Given the description of an element on the screen output the (x, y) to click on. 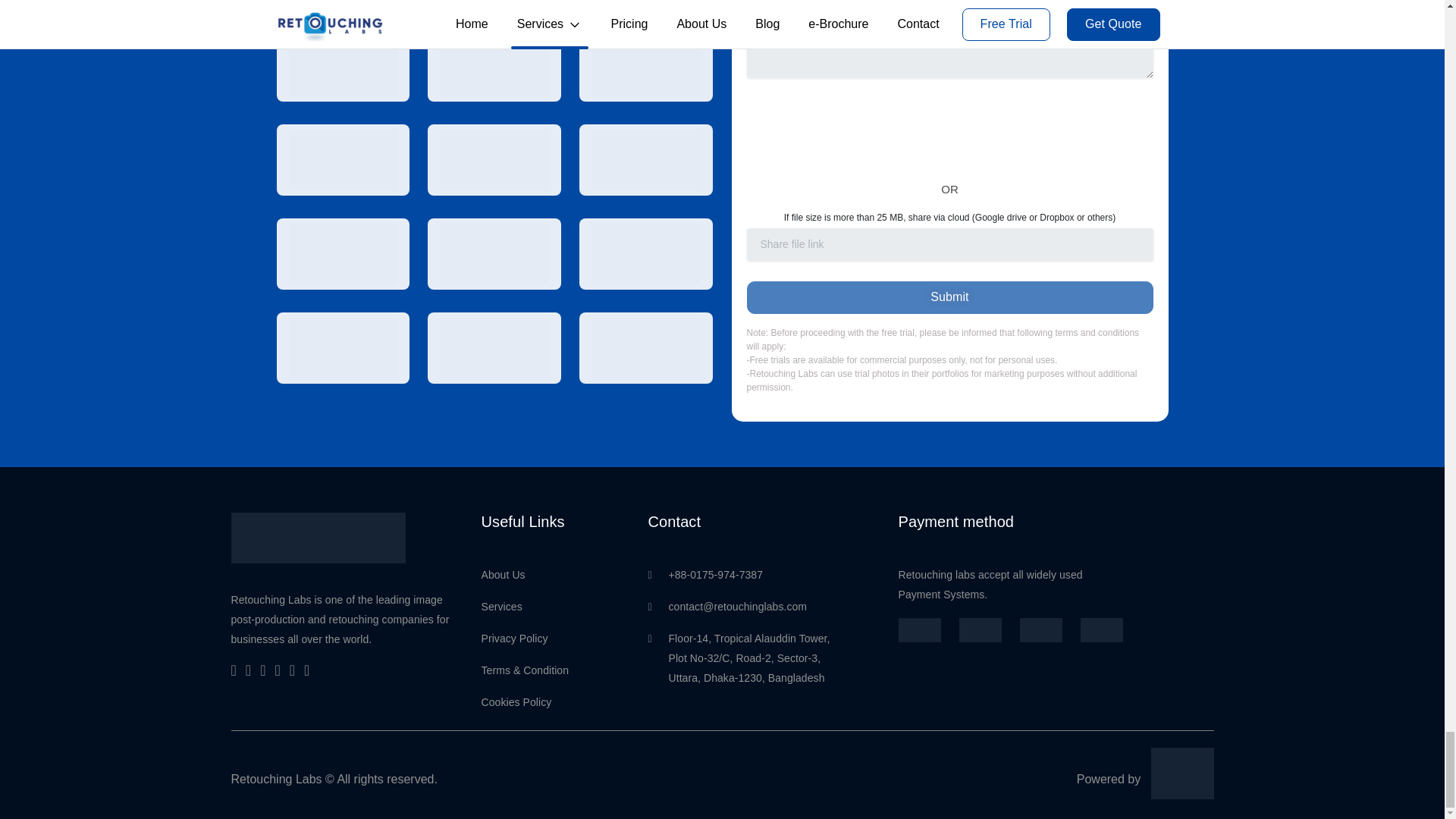
Submit (949, 297)
